Given the description of an element on the screen output the (x, y) to click on. 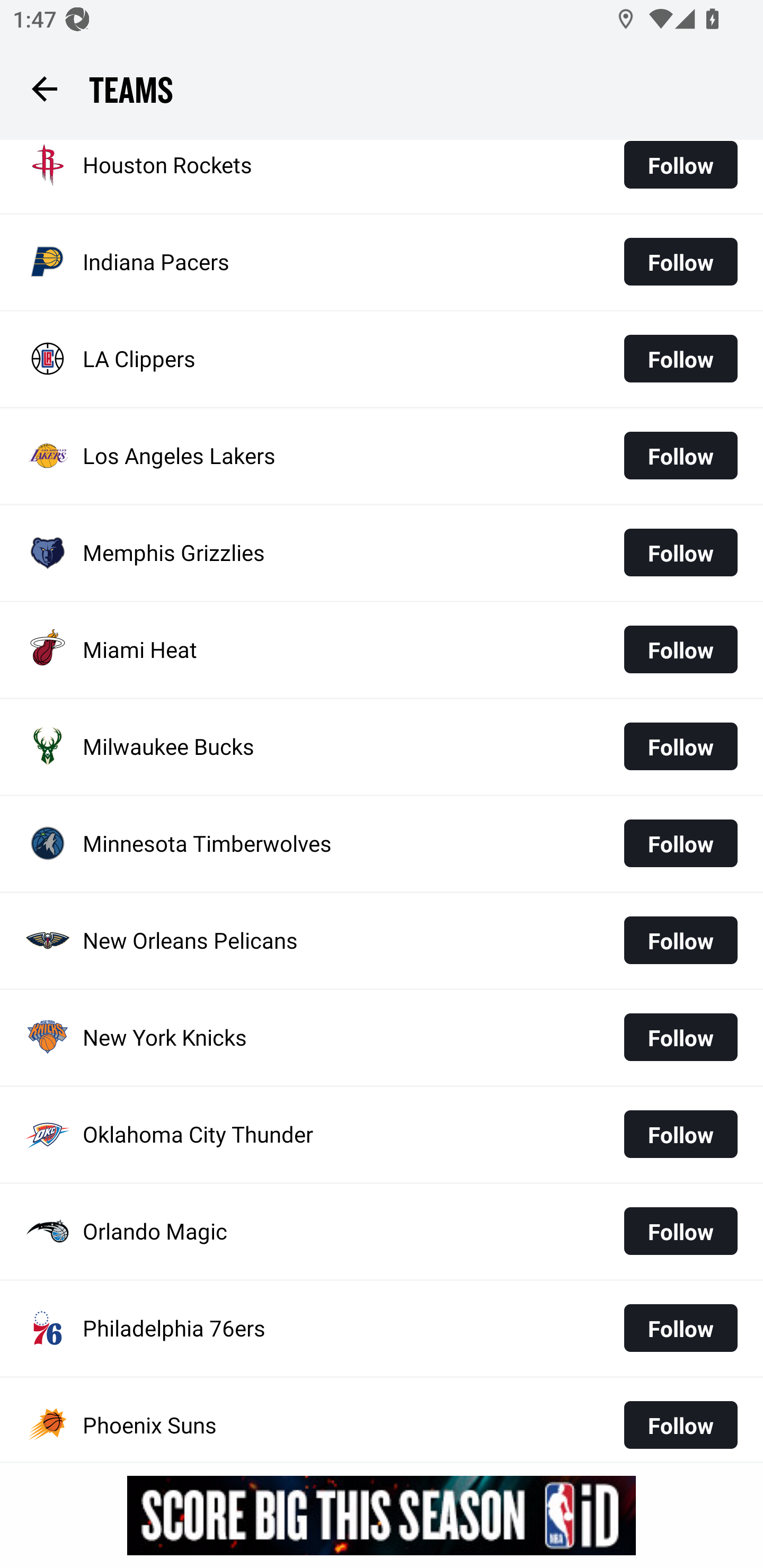
Back button (44, 88)
Houston Rockets Follow (381, 176)
Follow (680, 170)
Indiana Pacers Follow (381, 262)
Follow (680, 261)
LA Clippers Follow (381, 359)
Follow (680, 357)
Los Angeles Lakers Follow (381, 455)
Follow (680, 455)
Memphis Grizzlies Follow (381, 552)
Follow (680, 552)
Miami Heat Follow (381, 649)
Follow (680, 649)
Milwaukee Bucks Follow (381, 746)
Follow (680, 746)
Minnesota Timberwolves Follow (381, 844)
Follow (680, 843)
New Orleans Pelicans Follow (381, 940)
Follow (680, 939)
New York Knicks Follow (381, 1037)
Follow (680, 1036)
Oklahoma City Thunder Follow (381, 1134)
Follow (680, 1134)
Orlando Magic Follow (381, 1231)
Follow (680, 1230)
Philadelphia 76ers Follow (381, 1328)
Follow (680, 1327)
Phoenix Suns Follow (381, 1419)
Follow (680, 1423)
